Given the description of an element on the screen output the (x, y) to click on. 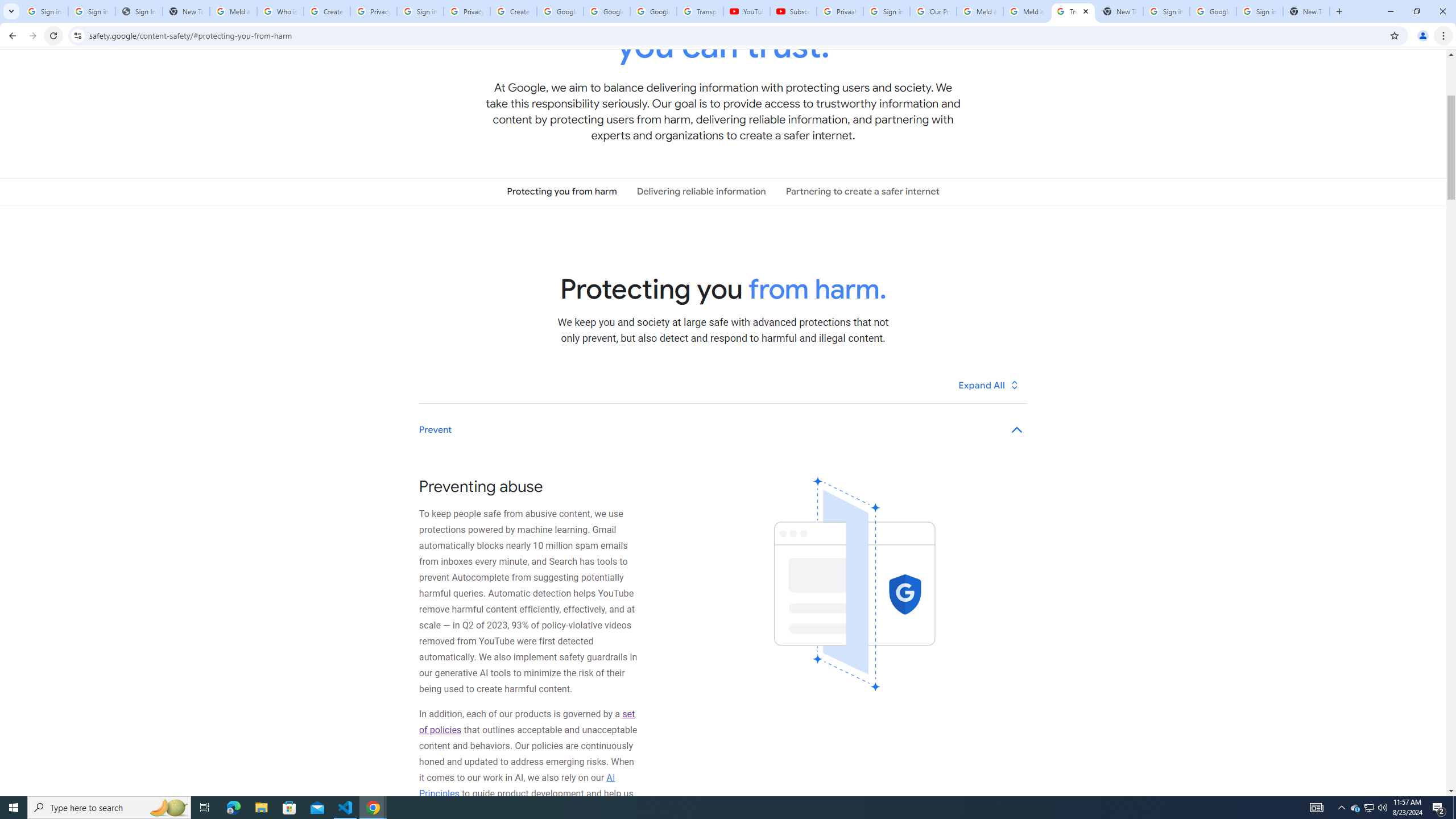
New Tab (1306, 11)
Sign in - Google Accounts (1166, 11)
Create your Google Account (512, 11)
Partnering to create a safer internet (862, 191)
Delivering reliable information (700, 191)
set of policies (526, 721)
AI Principles (517, 785)
Subscriptions - YouTube (792, 11)
